Given the description of an element on the screen output the (x, y) to click on. 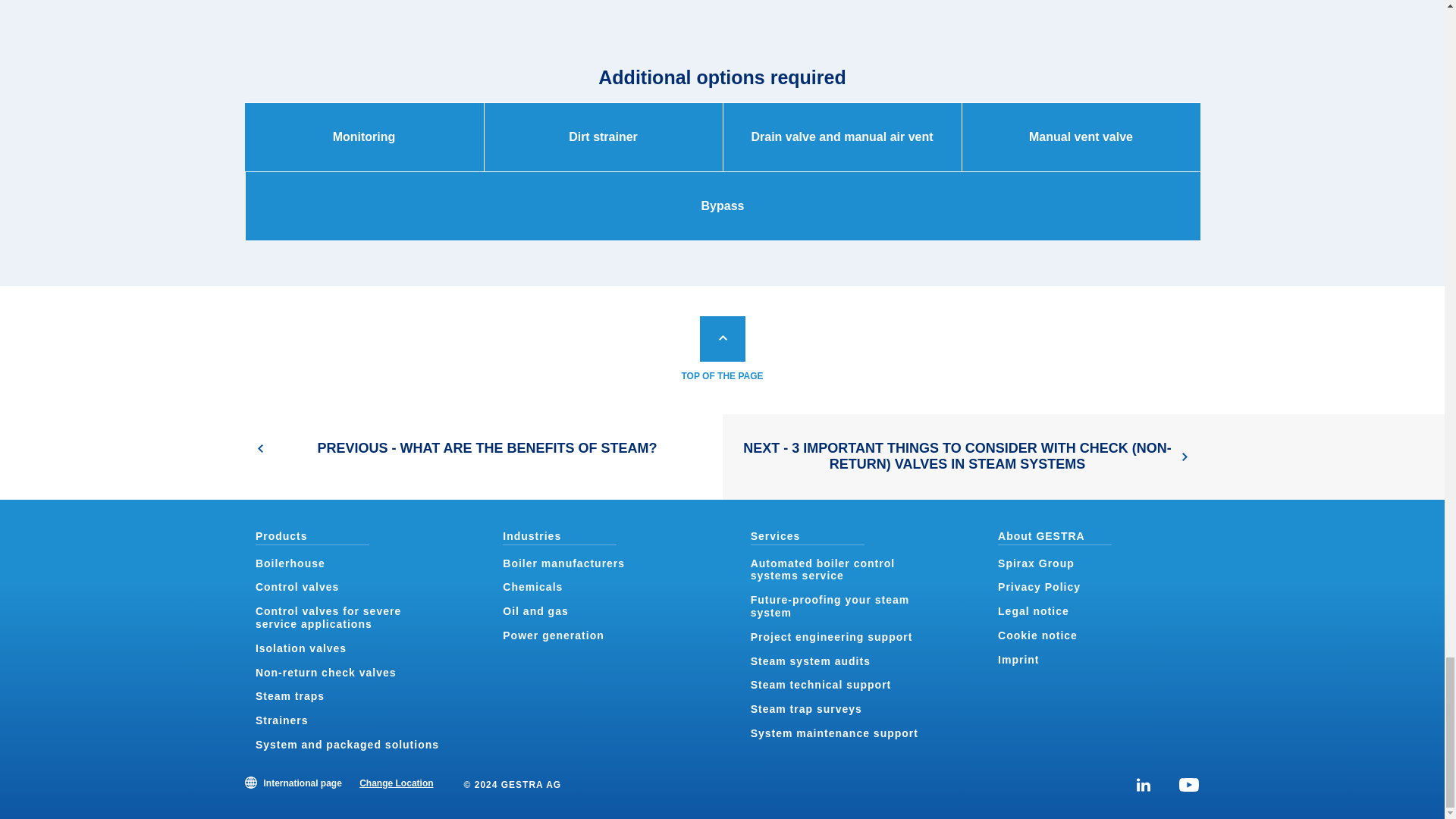
Steam traps (290, 695)
Boiler manufacturers (563, 563)
PREVIOUS - WHAT ARE THE BENEFITS OF STEAM? (361, 456)
Non-return check valves (326, 672)
TOP OF THE PAGE (721, 350)
Isolation valves (301, 648)
Control valves (297, 586)
Strainers (282, 720)
Chemicals (532, 586)
Boilerhouse (290, 563)
